Given the description of an element on the screen output the (x, y) to click on. 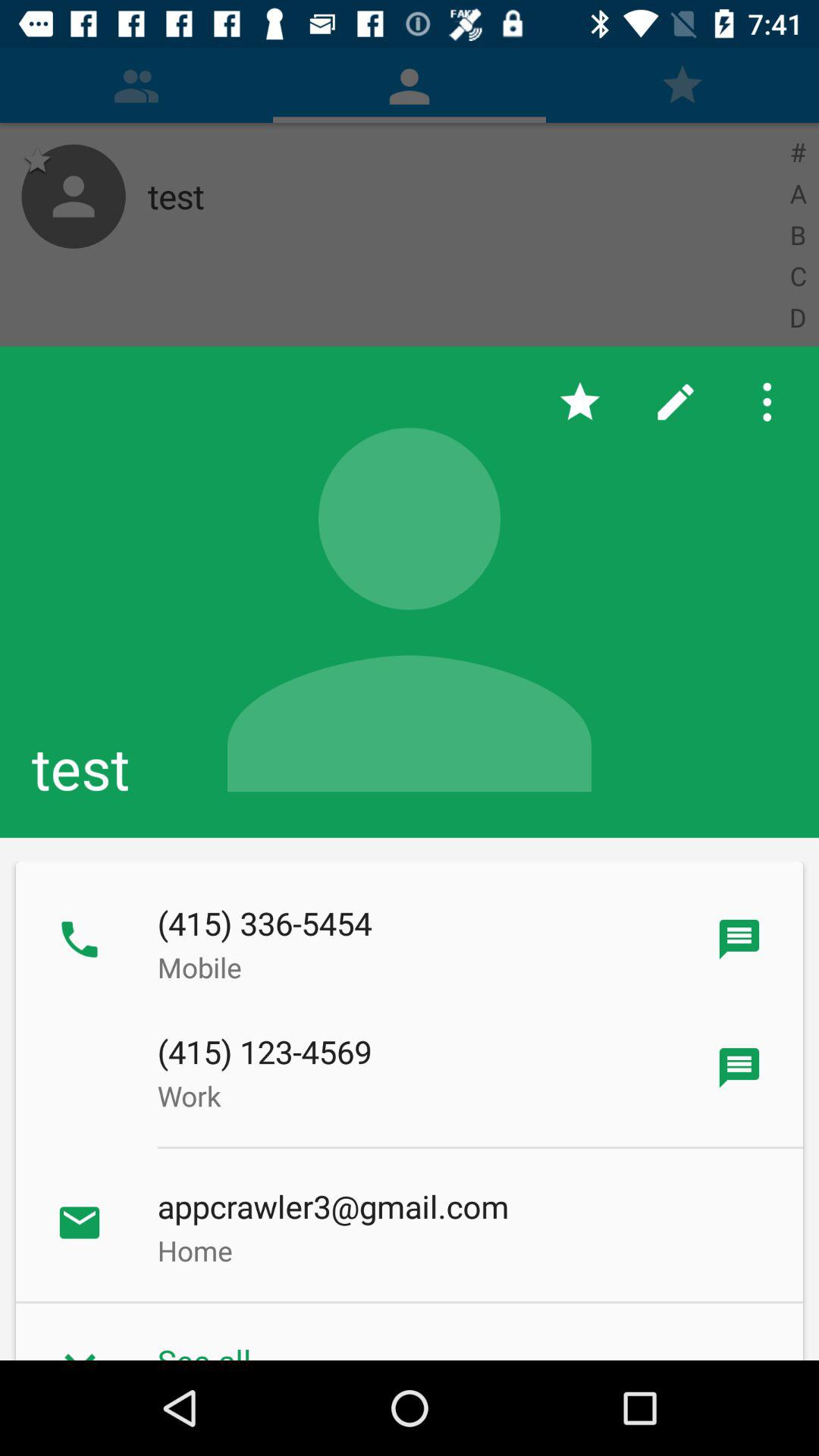
open the item above test item (675, 401)
